Given the description of an element on the screen output the (x, y) to click on. 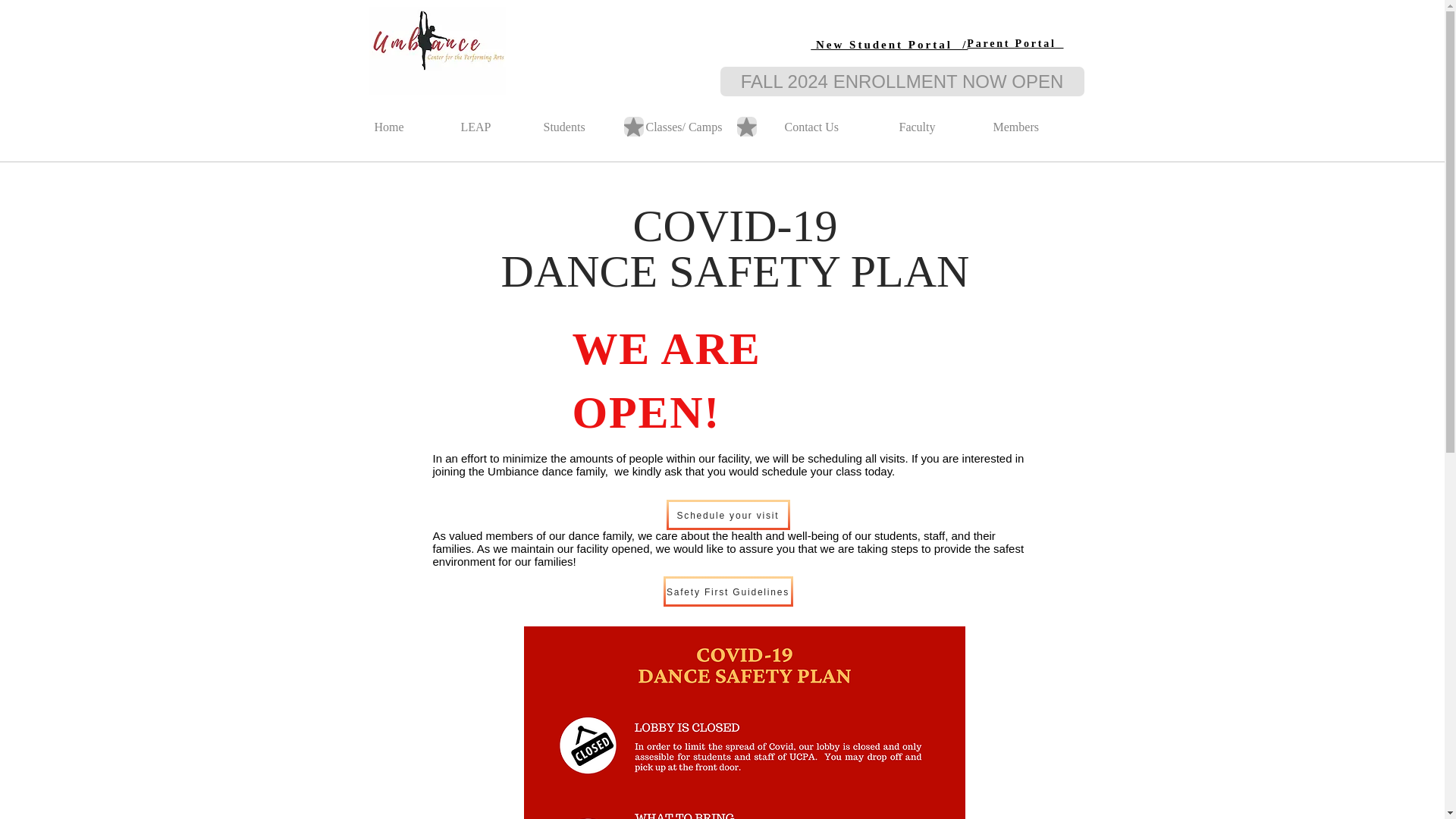
Home (403, 120)
Contact Us (827, 120)
Members (1031, 120)
FALL 2024 ENROLLMENT NOW OPEN (902, 81)
Safety First Guidelines (727, 591)
LOGO good.jpg (436, 50)
LEAP (487, 120)
Schedule your visit (727, 514)
Students (580, 120)
Parent Portal   (1014, 43)
